Given the description of an element on the screen output the (x, y) to click on. 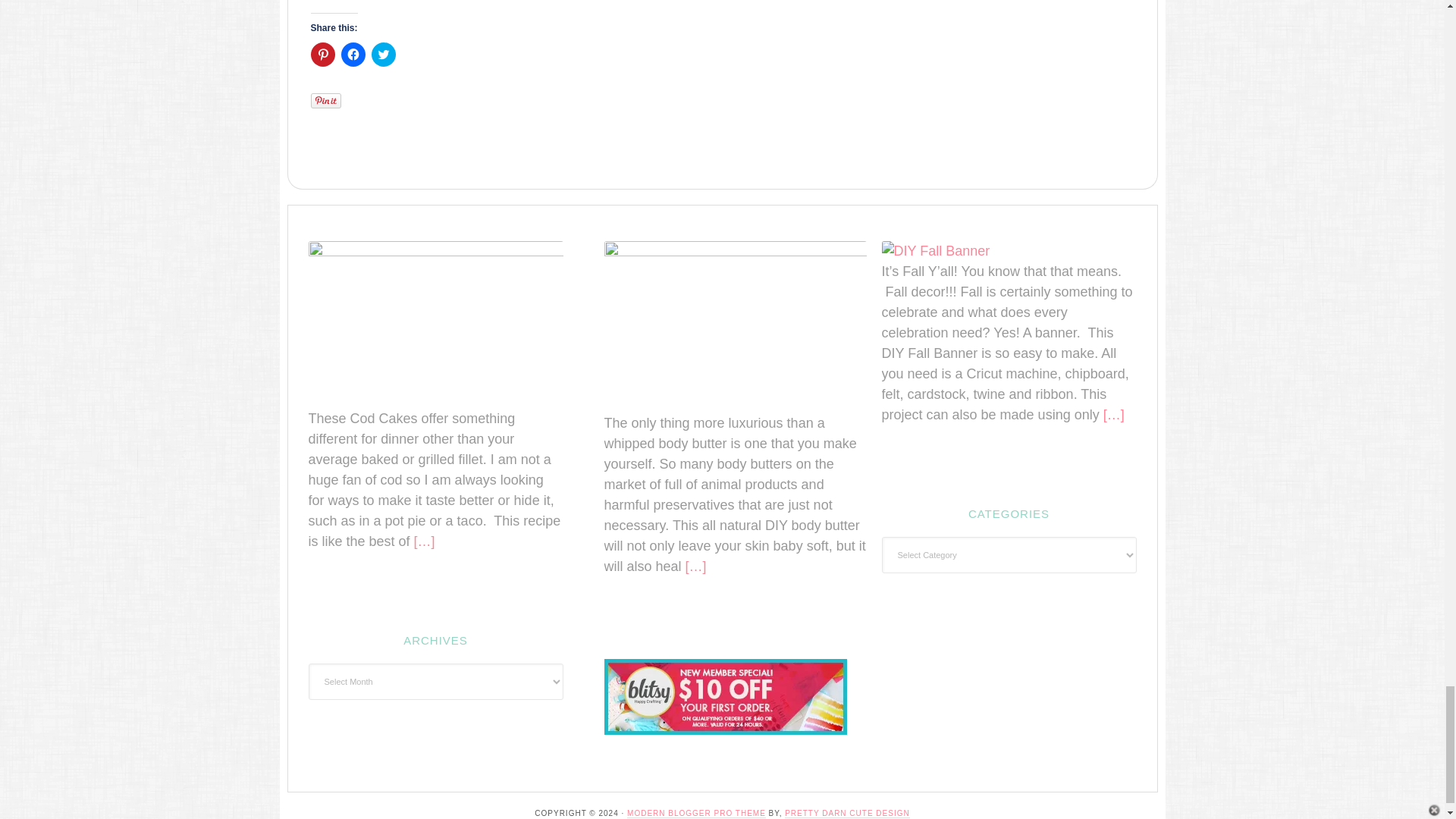
Pin It (325, 100)
Click to share on Twitter (383, 54)
Click to share on Facebook (352, 54)
Easy Louisiana Seafood Gumbo With Salmon and Cod (598, 0)
Brown Sugar Pound Cake Recipe with Caramel Glaze (515, 0)
Click to share on Pinterest (322, 54)
